Given the description of an element on the screen output the (x, y) to click on. 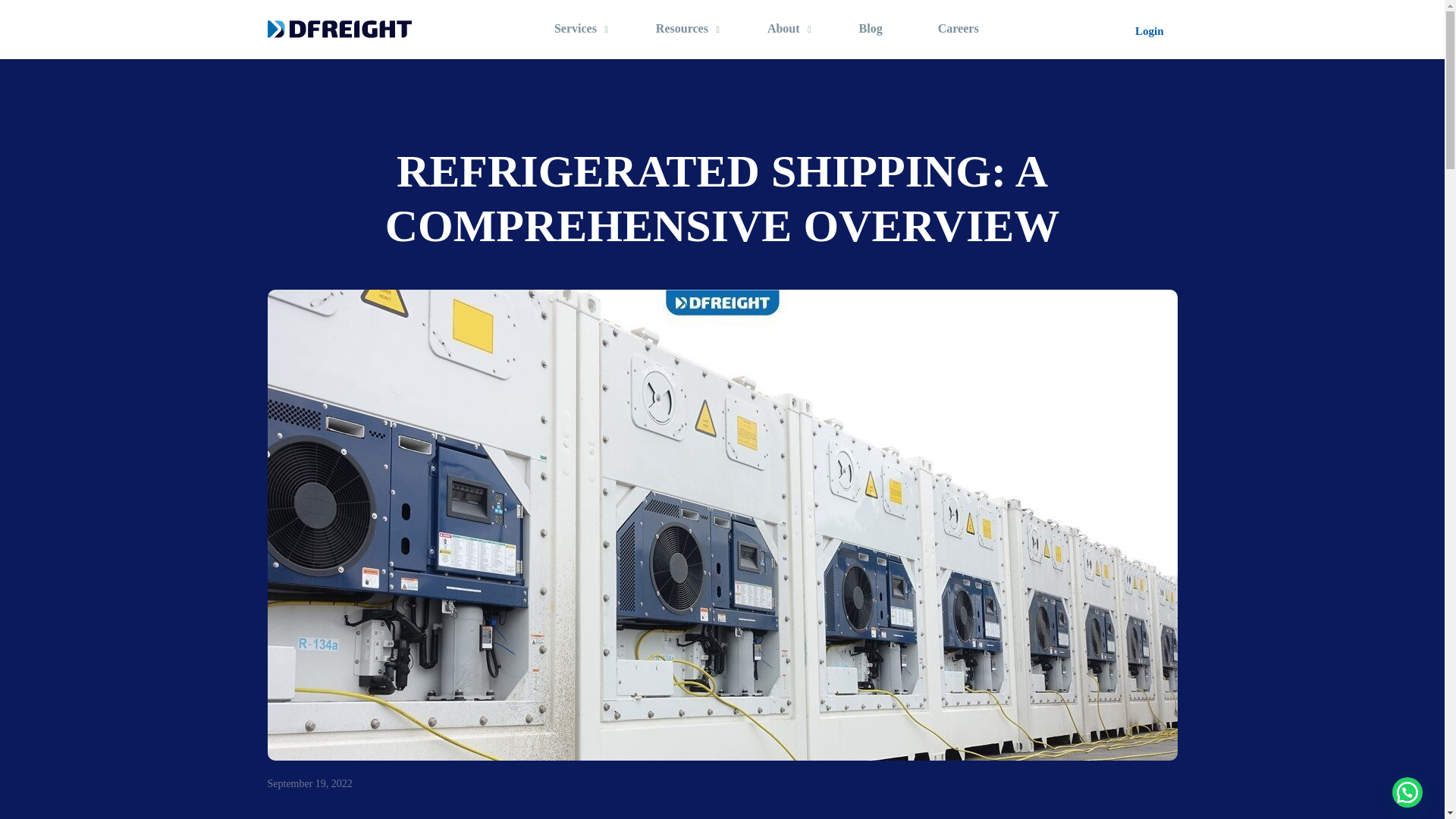
Services (576, 29)
